Given the description of an element on the screen output the (x, y) to click on. 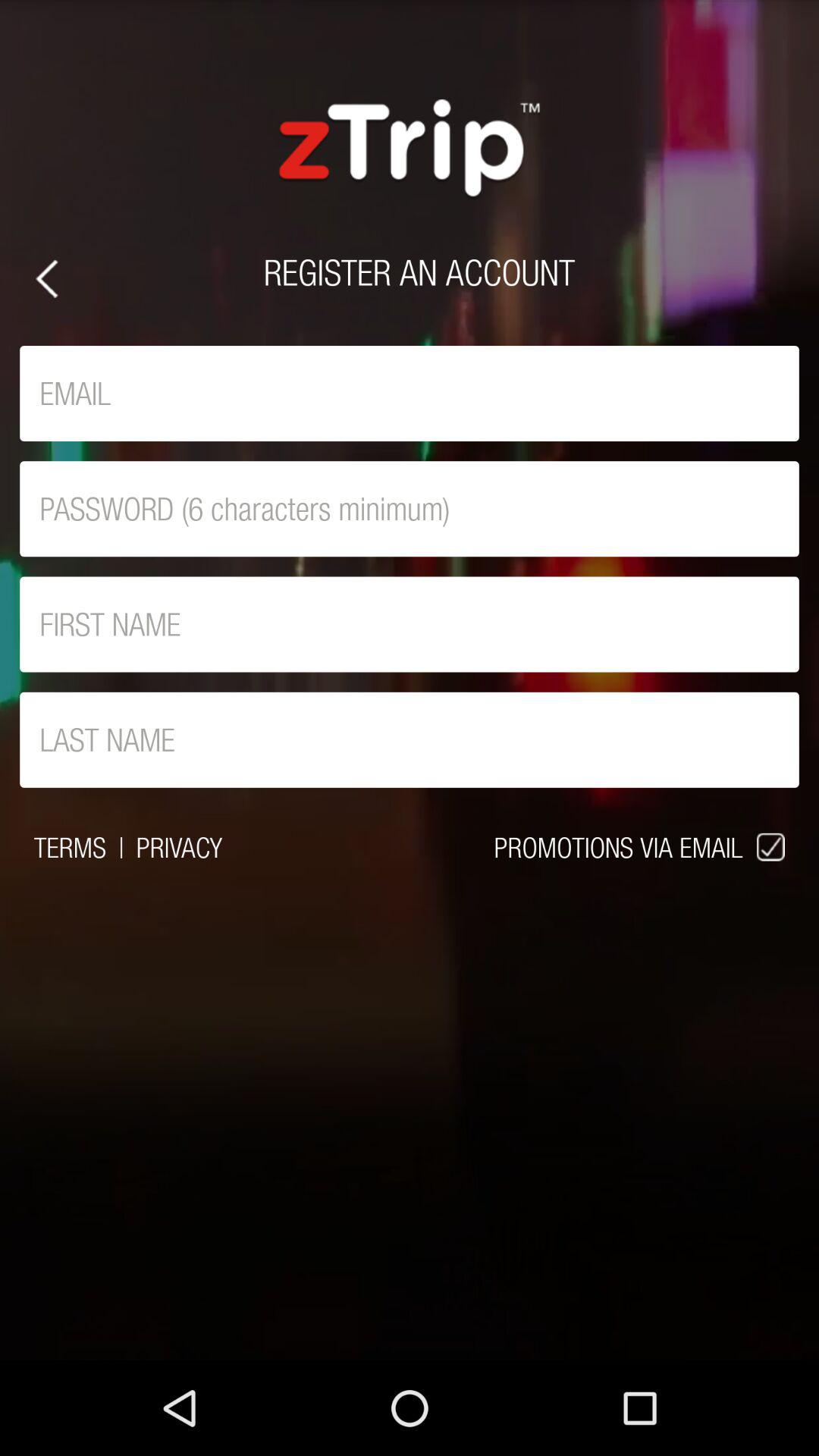
tap item next to promotions via email item (179, 847)
